Given the description of an element on the screen output the (x, y) to click on. 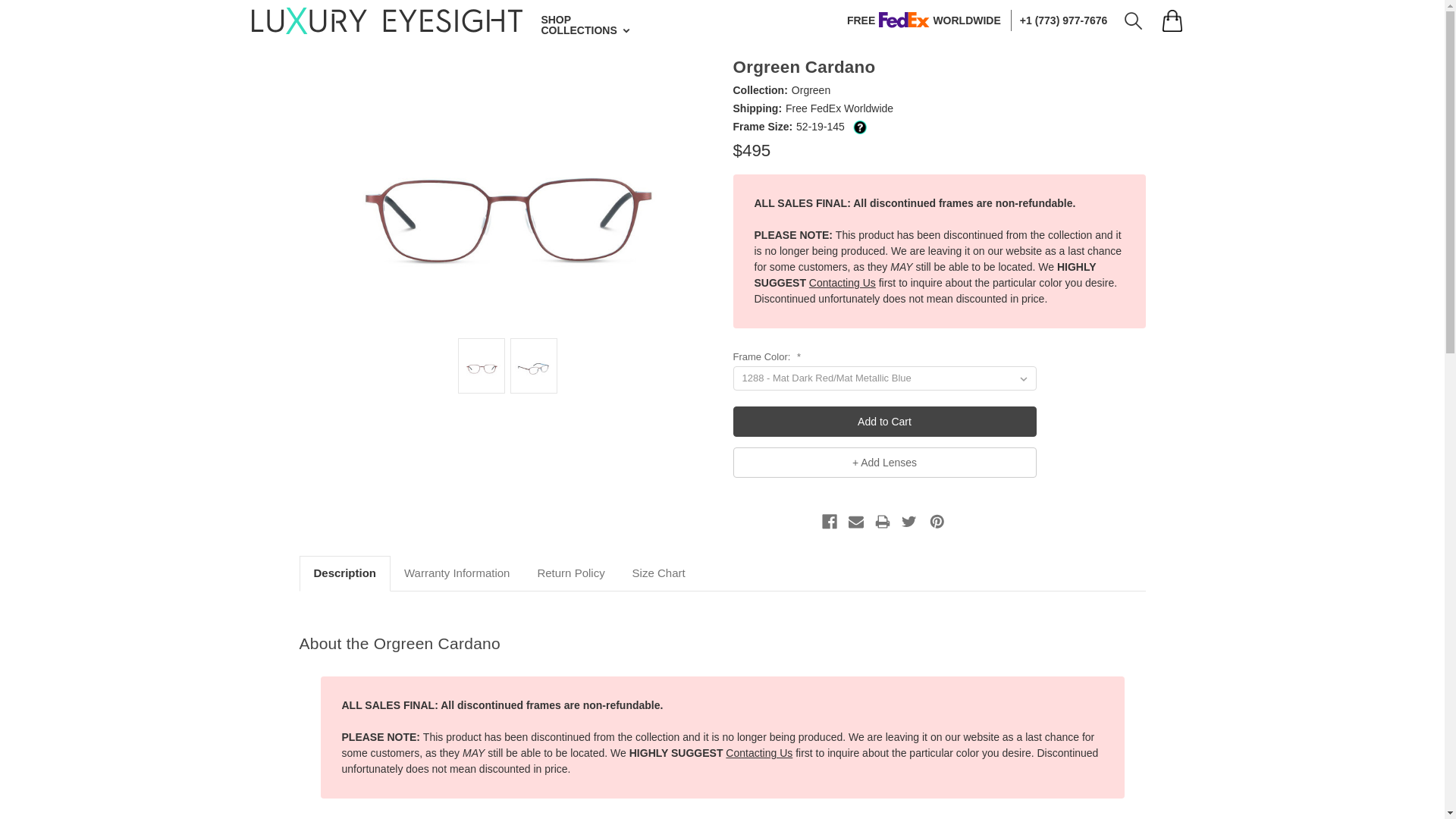
LuxuryEyesite.com (377, 20)
Add to Cart (883, 421)
